Given the description of an element on the screen output the (x, y) to click on. 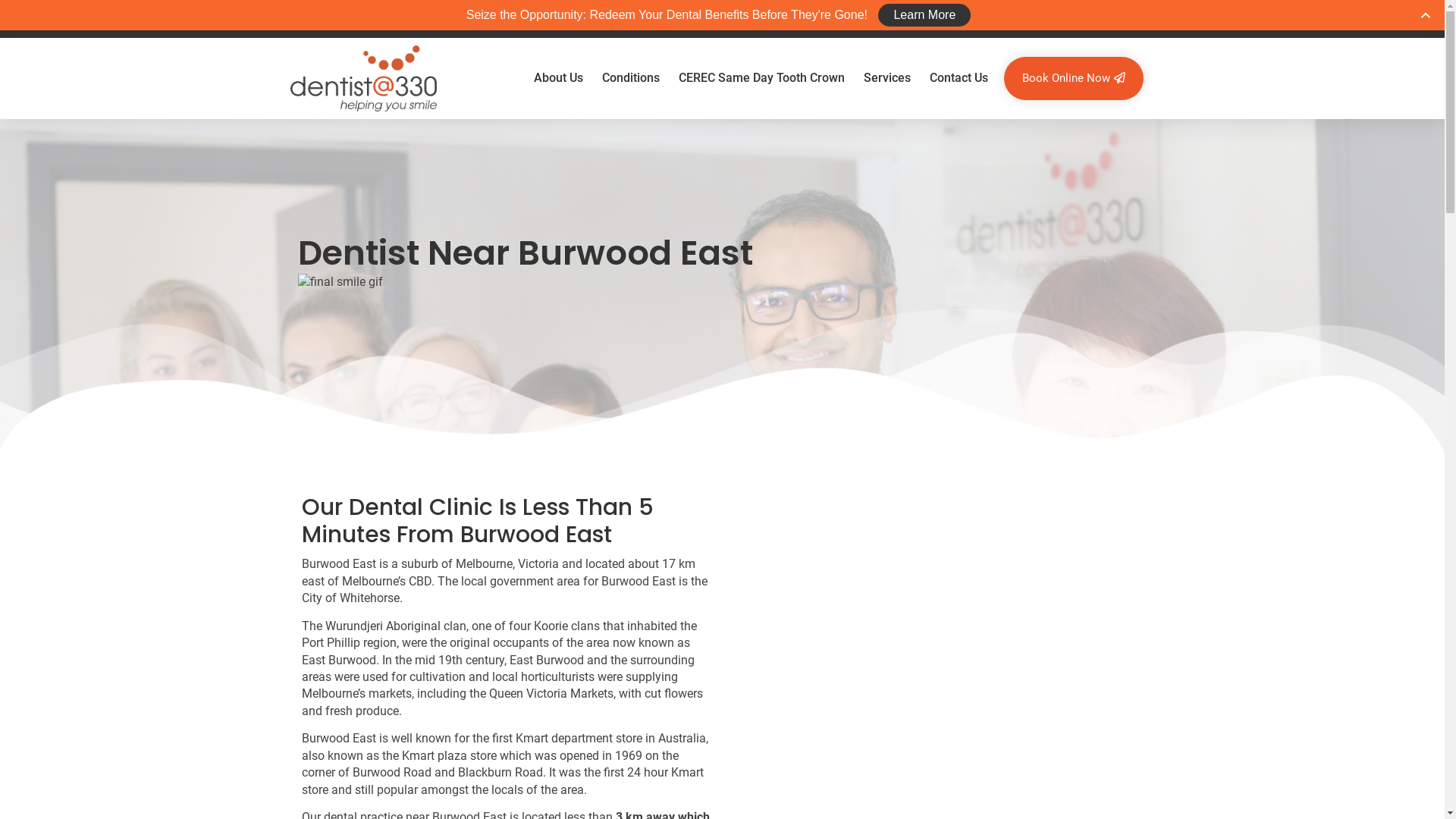
info@dentistat330.com.au Element type: text (738, 18)
Services Element type: text (886, 77)
CEREC Same Day Tooth Crown Element type: text (761, 77)
(03) 9886 5318 Element type: text (599, 18)
Contact Us Element type: text (958, 77)
330 Highbury Rd, Mount Waverley, VIC 3149 Element type: text (416, 18)
About Us Element type: text (558, 77)
Book Online Now Element type: text (1073, 78)
Conditions Element type: text (630, 77)
Learn More Element type: text (924, 14)
